Given the description of an element on the screen output the (x, y) to click on. 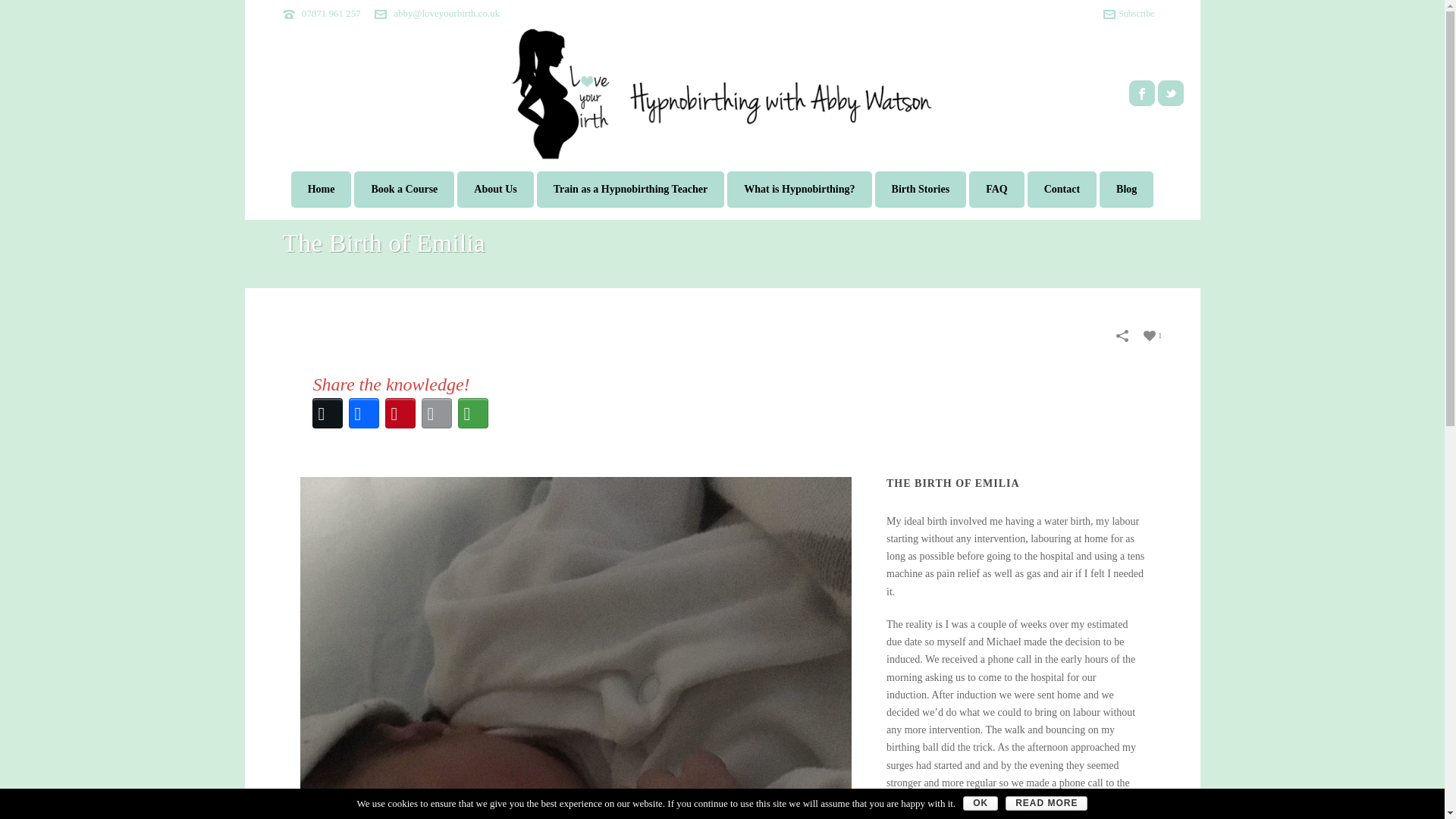
Email This (436, 412)
07871 961 257 (331, 12)
1 (1151, 334)
Home (321, 189)
Birth Stories (920, 189)
FAQ (997, 189)
Pinterest (400, 412)
Book a Course (403, 189)
Train as a Hypnobirthing Teacher (631, 189)
